Given the description of an element on the screen output the (x, y) to click on. 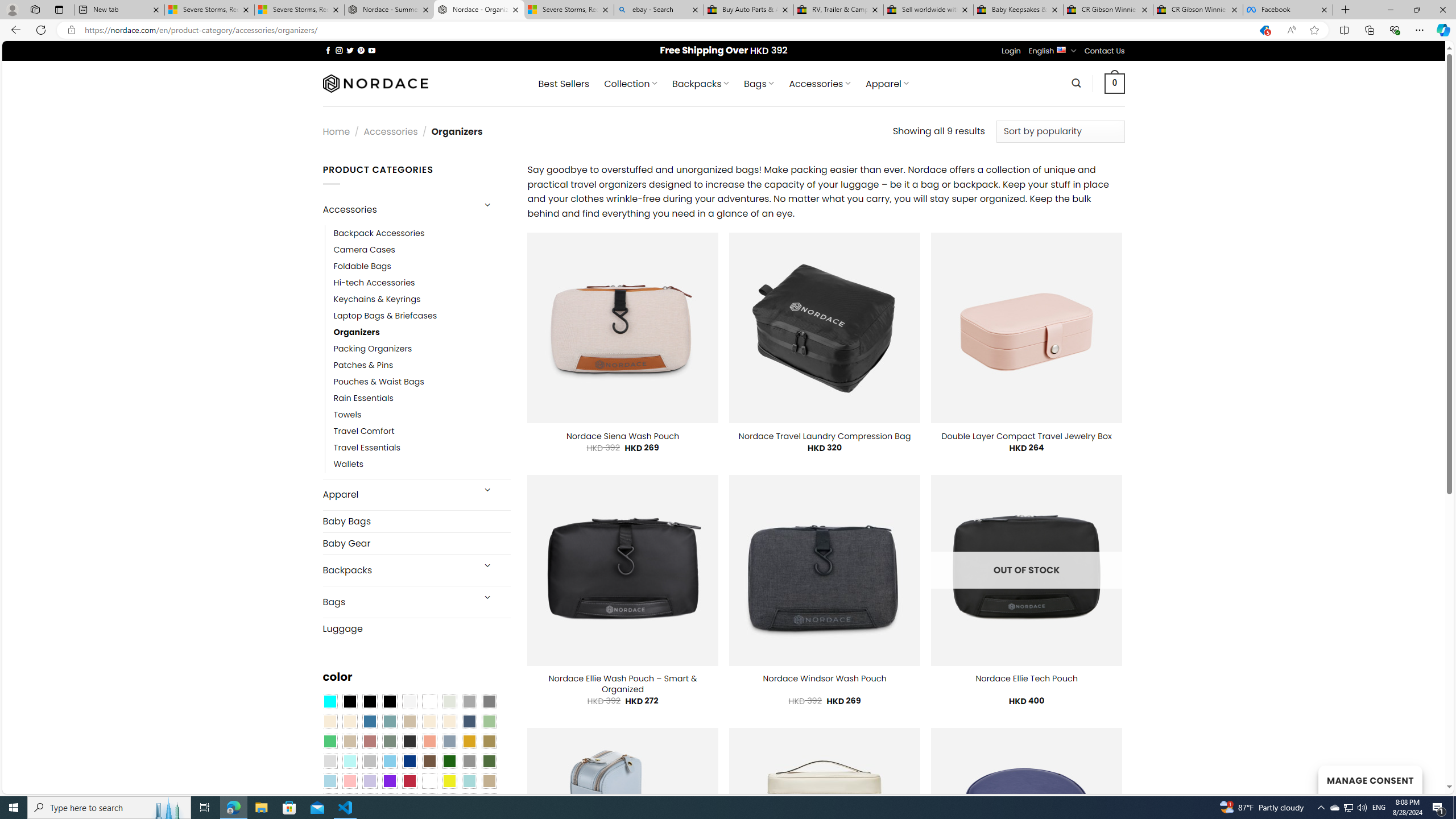
Ash Gray (449, 701)
Travel Comfort (422, 431)
Browser essentials (1394, 29)
Wallets (422, 464)
Mint (349, 761)
Workspaces (34, 9)
Aqua (468, 780)
Yellow (449, 780)
Light Green (488, 721)
Purple (389, 780)
Backpacks (397, 570)
Camera Cases (422, 248)
All Black (349, 701)
Search (1076, 83)
Aqua Blue (329, 701)
